Given the description of an element on the screen output the (x, y) to click on. 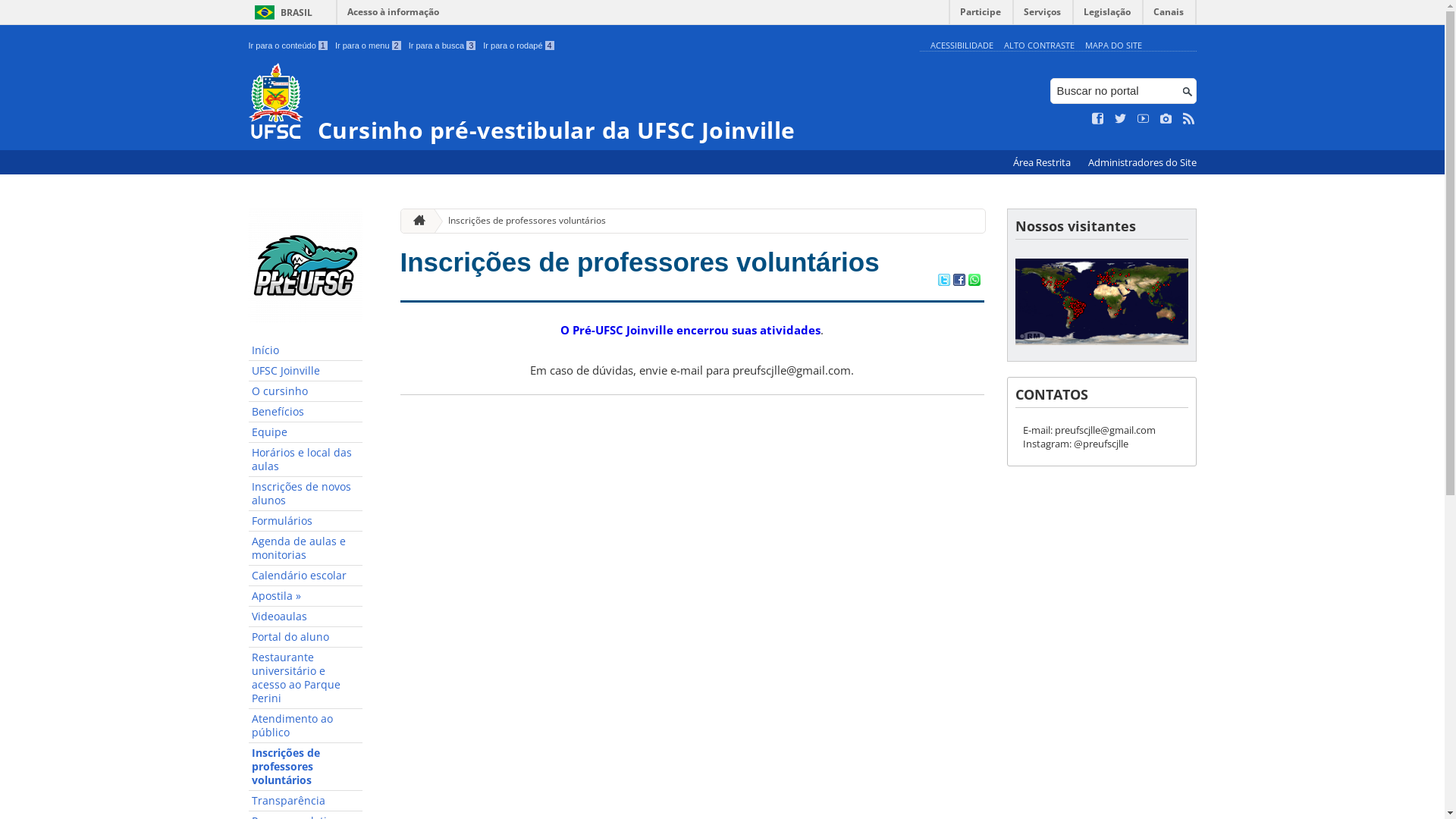
Participe Element type: text (980, 15)
Veja no Instagram Element type: hover (1166, 118)
Ir para a busca 3 Element type: text (442, 45)
BRASIL Element type: text (280, 12)
Videoaulas Element type: text (305, 616)
Compartilhar no Facebook Element type: hover (958, 280)
Canais Element type: text (1169, 15)
Compartilhar no WhatsApp Element type: hover (973, 280)
MAPA DO SITE Element type: text (1112, 44)
ACESSIBILIDADE Element type: text (960, 44)
O cursinho Element type: text (305, 391)
Agenda de aulas e monitorias Element type: text (305, 548)
Administradores do Site Element type: text (1141, 162)
Ir para o menu 2 Element type: text (368, 45)
Equipe Element type: text (305, 432)
Compartilhar no Twitter Element type: hover (943, 280)
Siga no Twitter Element type: hover (1120, 118)
Portal do aluno Element type: text (305, 637)
ALTO CONTRASTE Element type: text (1039, 44)
UFSC Joinville Element type: text (305, 370)
Curta no Facebook Element type: hover (1098, 118)
